Given the description of an element on the screen output the (x, y) to click on. 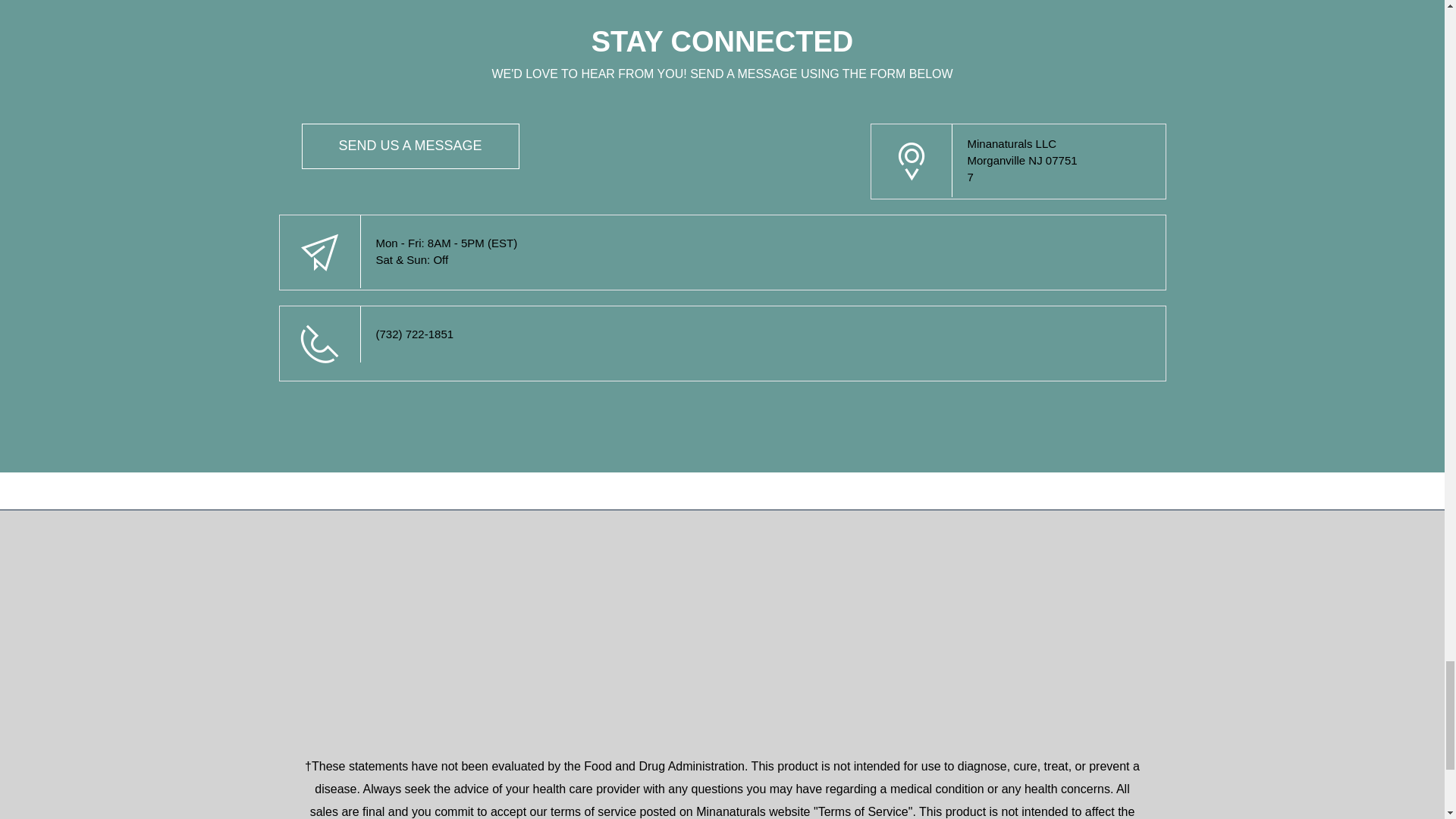
SEND US A MESSAGE (410, 144)
SEND US A MESSAGE (410, 145)
